Given the description of an element on the screen output the (x, y) to click on. 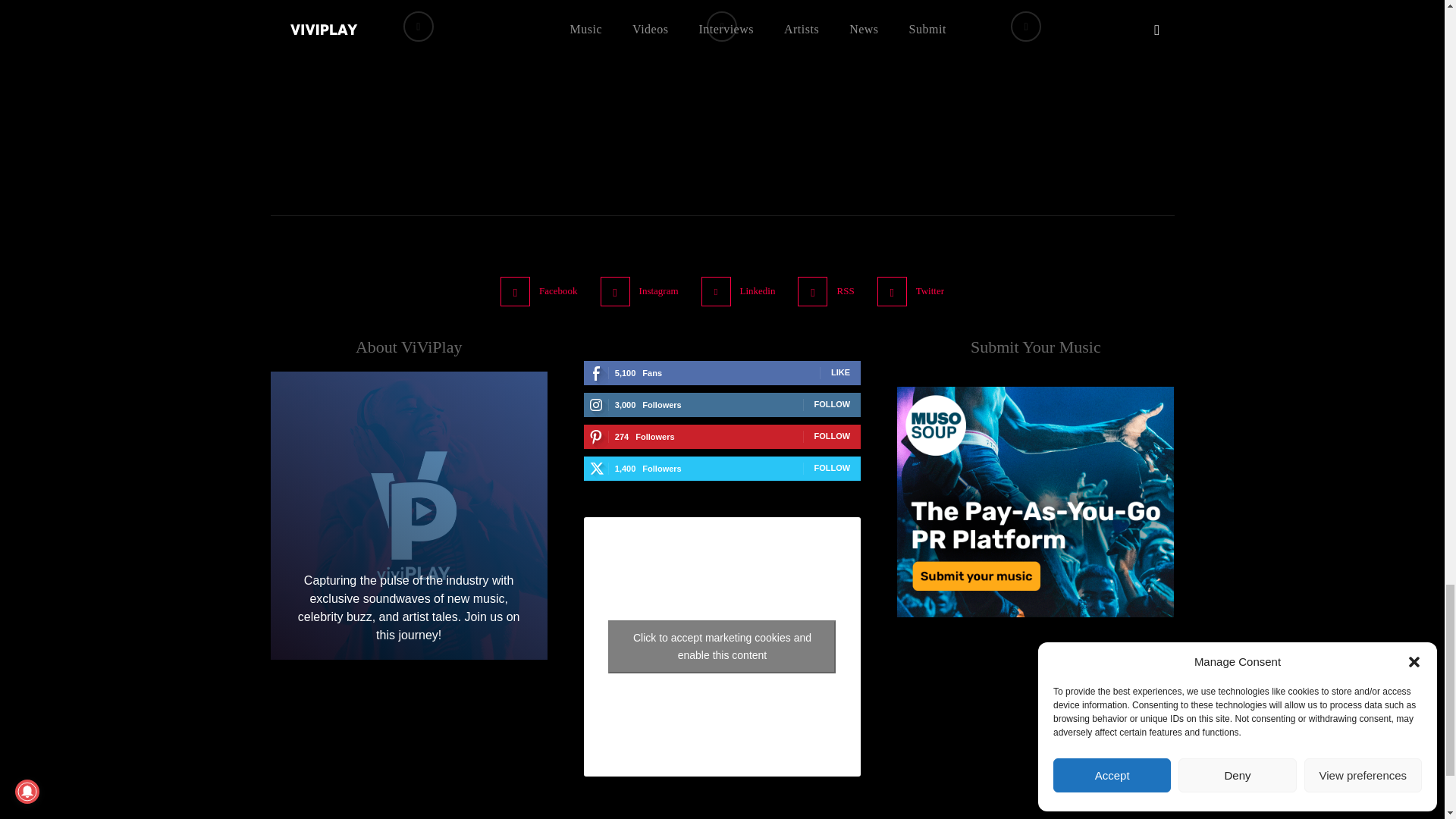
Instagram (614, 291)
Facebook (514, 291)
